Given the description of an element on the screen output the (x, y) to click on. 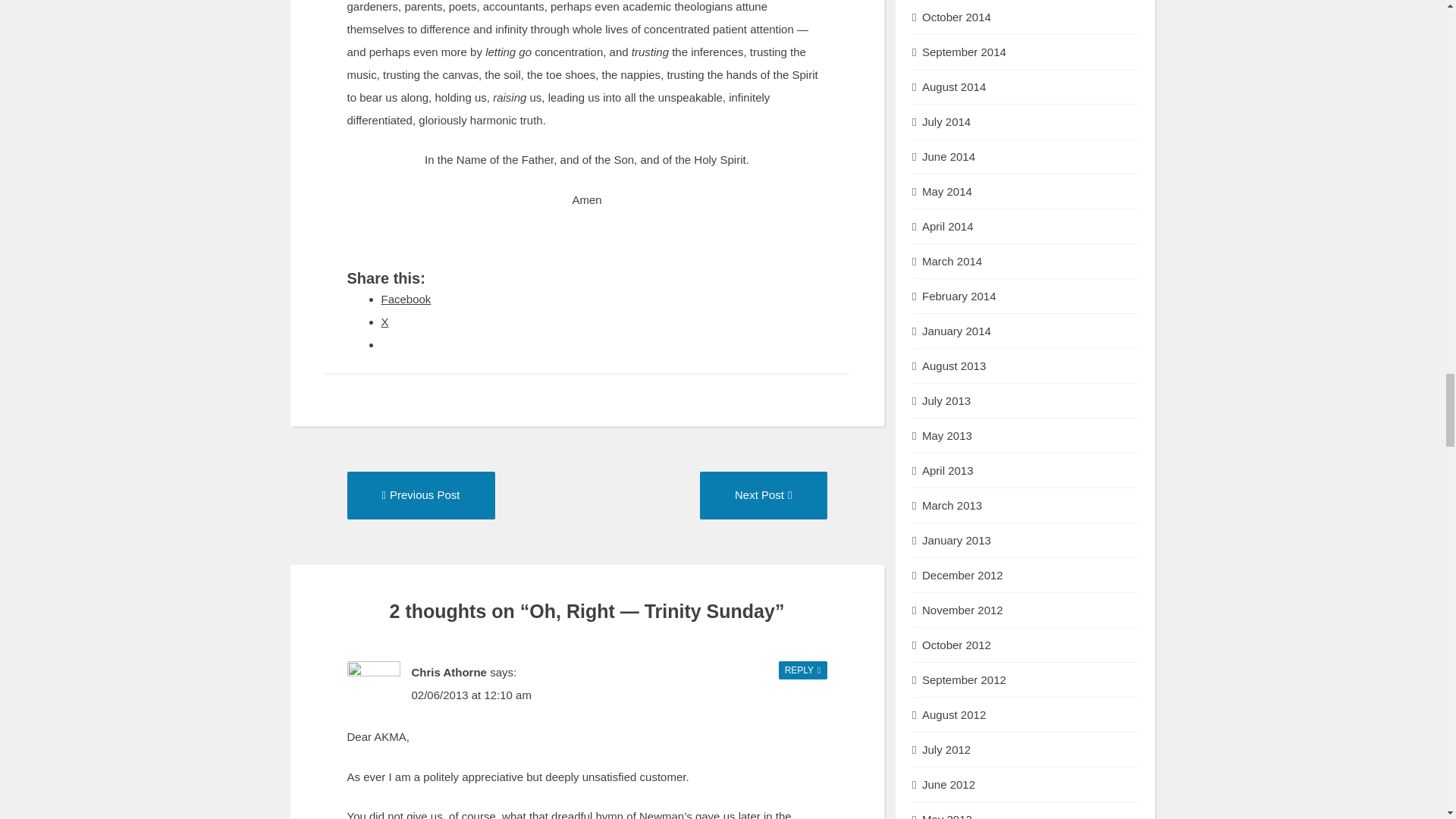
What Is Exegetical Method? (763, 494)
Click to share on Facebook (763, 495)
On MOOCs and Monks (405, 298)
REPLY (421, 495)
Facebook (802, 668)
